Given the description of an element on the screen output the (x, y) to click on. 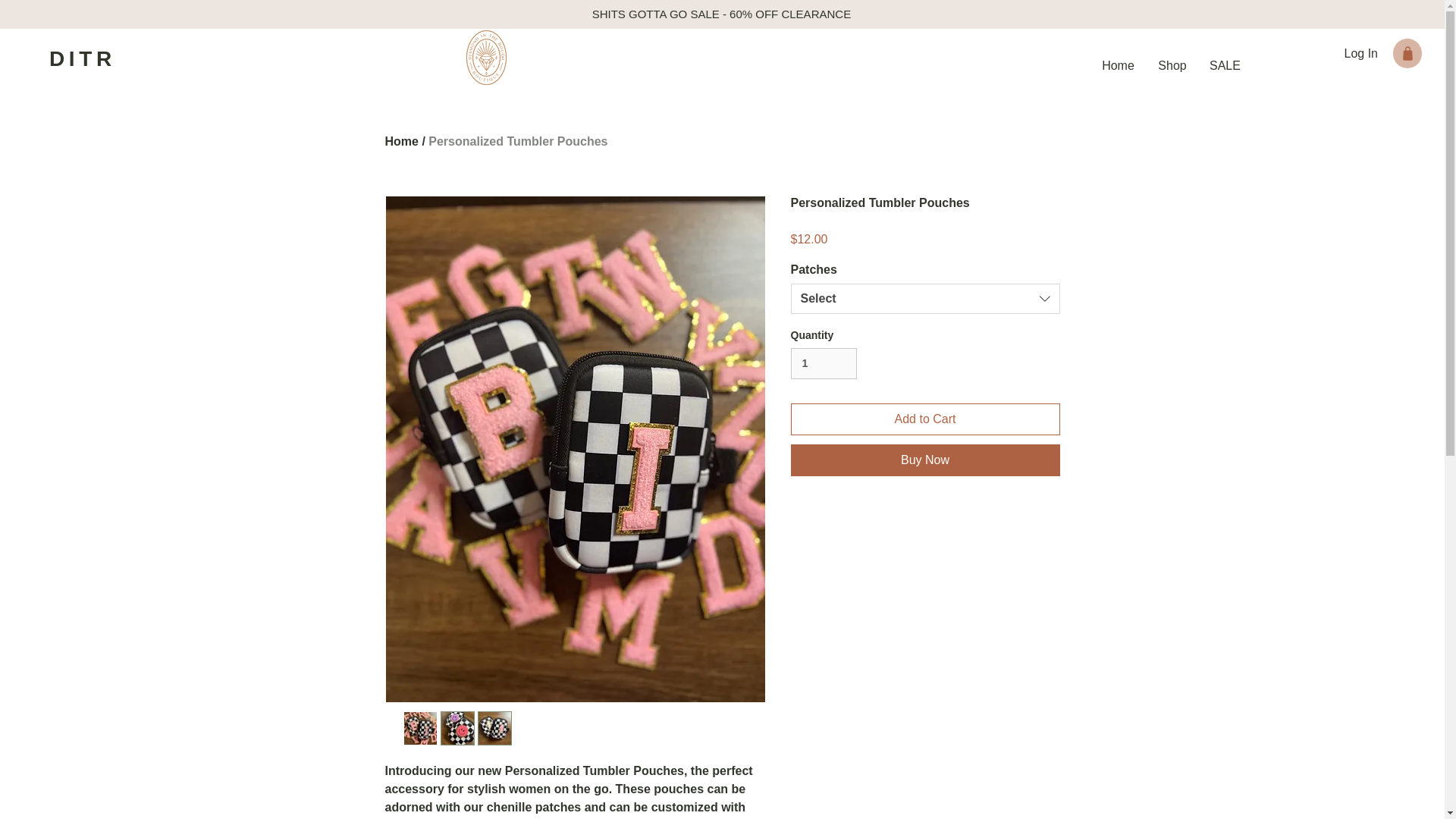
Log In (1361, 53)
Select (924, 298)
Home (1118, 65)
Buy Now (924, 459)
DITR (82, 58)
1 (823, 363)
Shop (1172, 65)
SALE (1223, 65)
Personalized Tumbler Pouches (517, 141)
Add to Cart (924, 418)
